Given the description of an element on the screen output the (x, y) to click on. 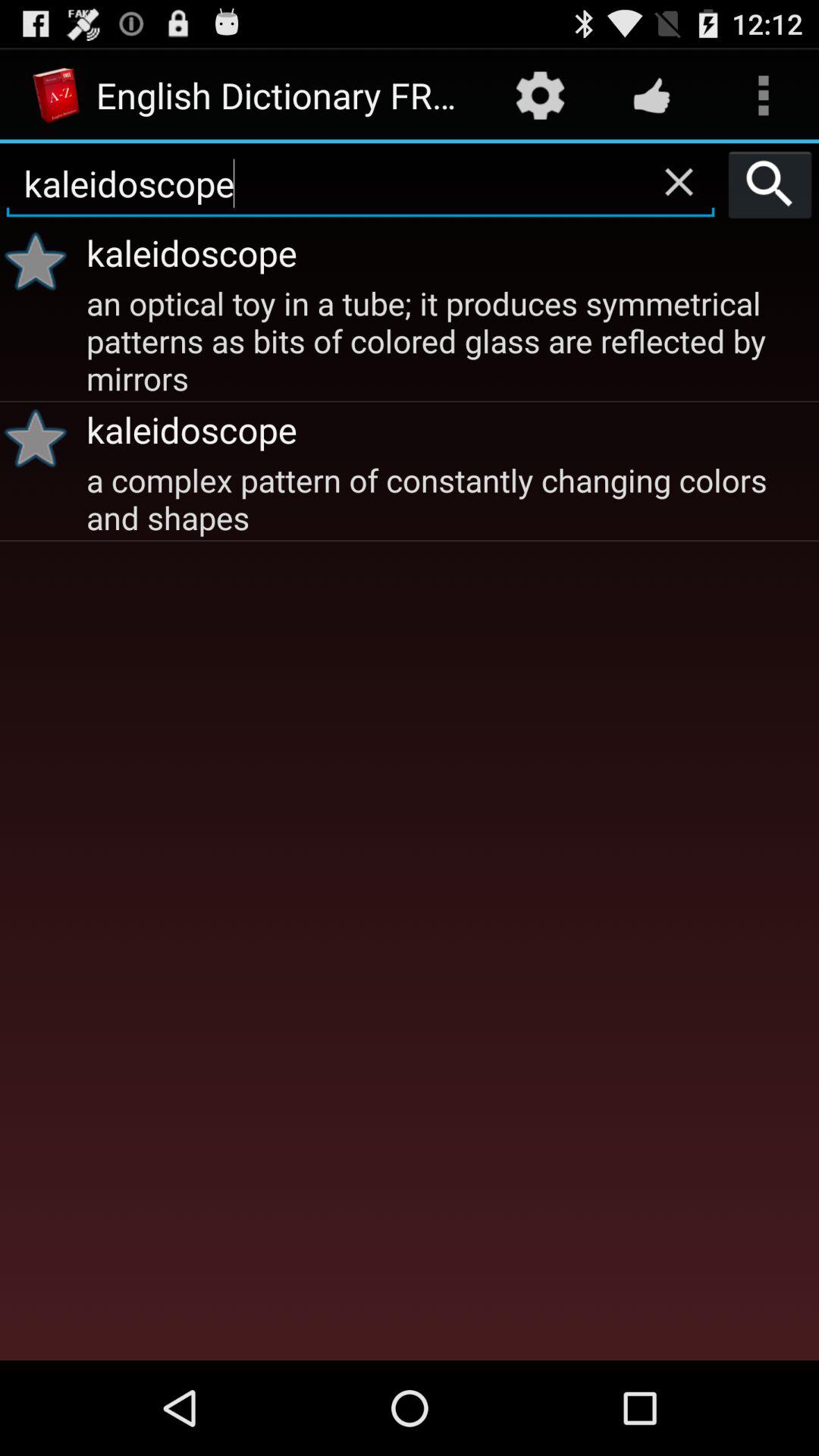
launch the an optical toy icon (451, 339)
